Given the description of an element on the screen output the (x, y) to click on. 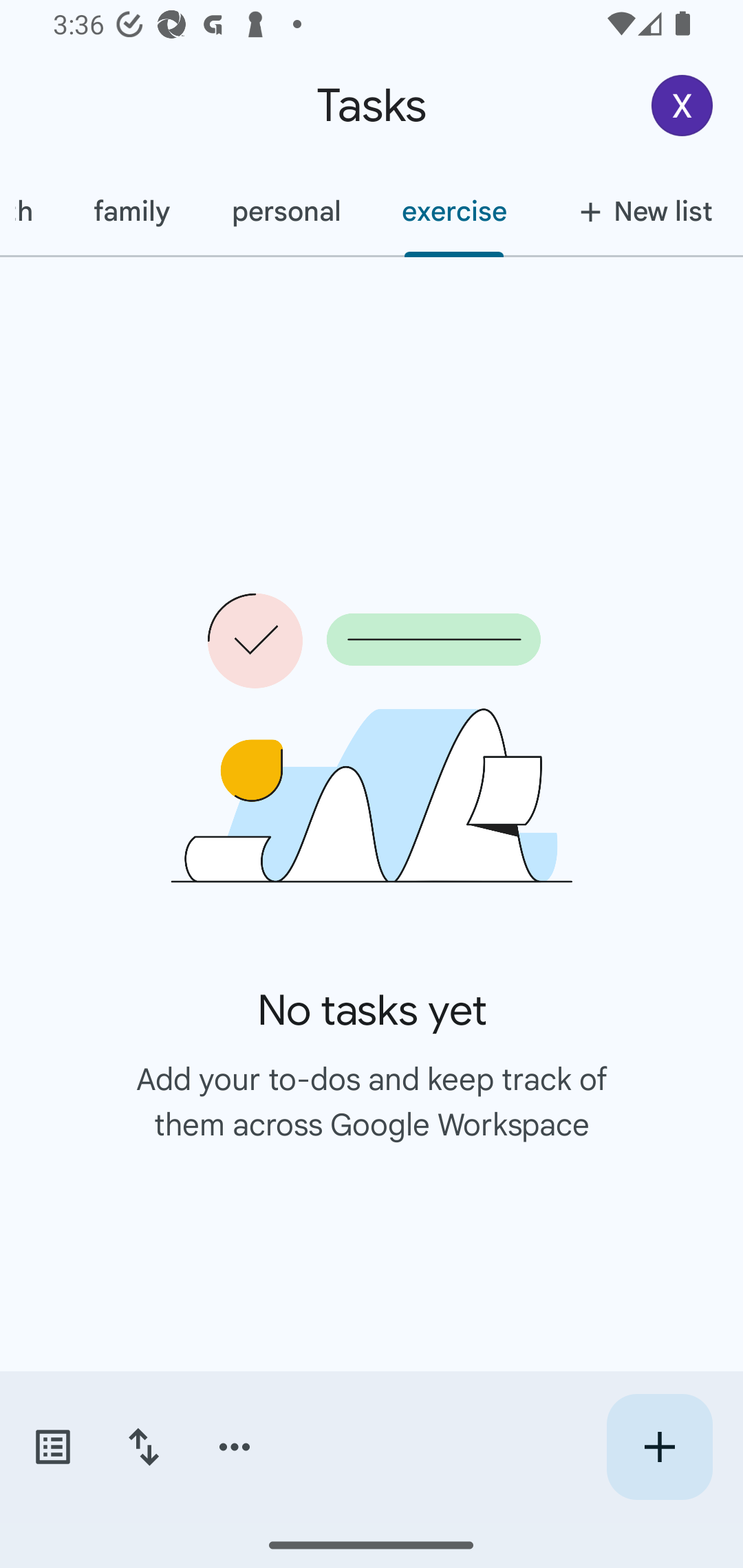
family (131, 211)
personal (285, 211)
New list (640, 211)
Switch task lists (52, 1447)
Create new task (659, 1446)
Change sort order (143, 1446)
More options (234, 1446)
